Given the description of an element on the screen output the (x, y) to click on. 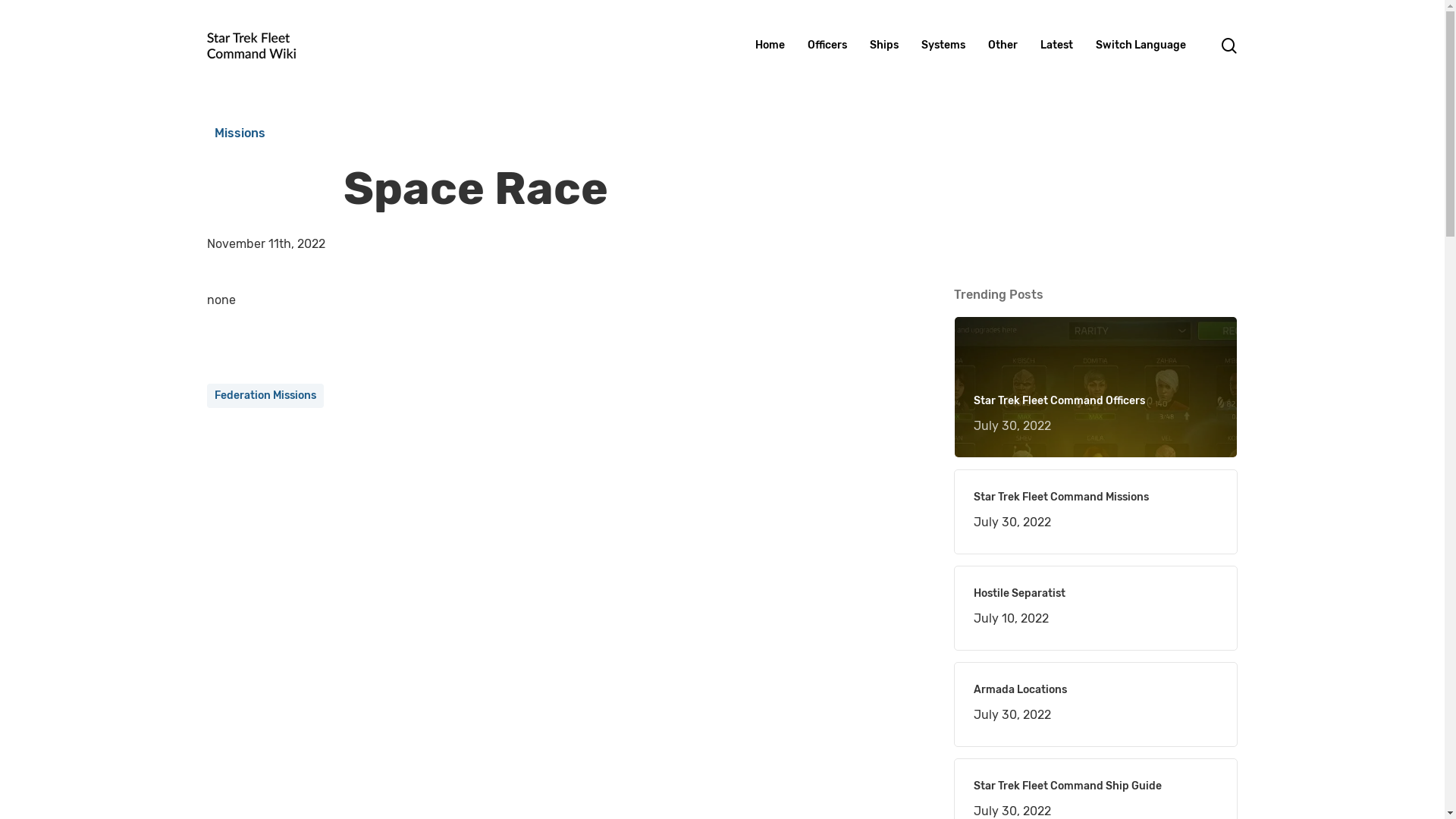
Other Element type: text (1001, 45)
Latest Element type: text (1056, 45)
Star Trek Fleet Command Officers
July 30, 2022 Element type: text (1095, 415)
Missions Element type: text (238, 132)
Star Trek Fleet Command Wiki Element type: text (316, 794)
Officers Element type: text (826, 45)
search Element type: text (1228, 45)
Armada Locations
July 30, 2022 Element type: text (1095, 704)
Switch Language Element type: text (1140, 45)
Home Element type: text (769, 45)
Ships Element type: text (883, 45)
Privacy Policy Element type: text (428, 794)
Systems Element type: text (942, 45)
Federation Missions Element type: text (264, 395)
Star Trek Fleet Command Missions
July 30, 2022 Element type: text (1095, 511)
Starfield Wiki Element type: text (242, 699)
Hostile Separatist
July 10, 2022 Element type: text (1095, 607)
